Given the description of an element on the screen output the (x, y) to click on. 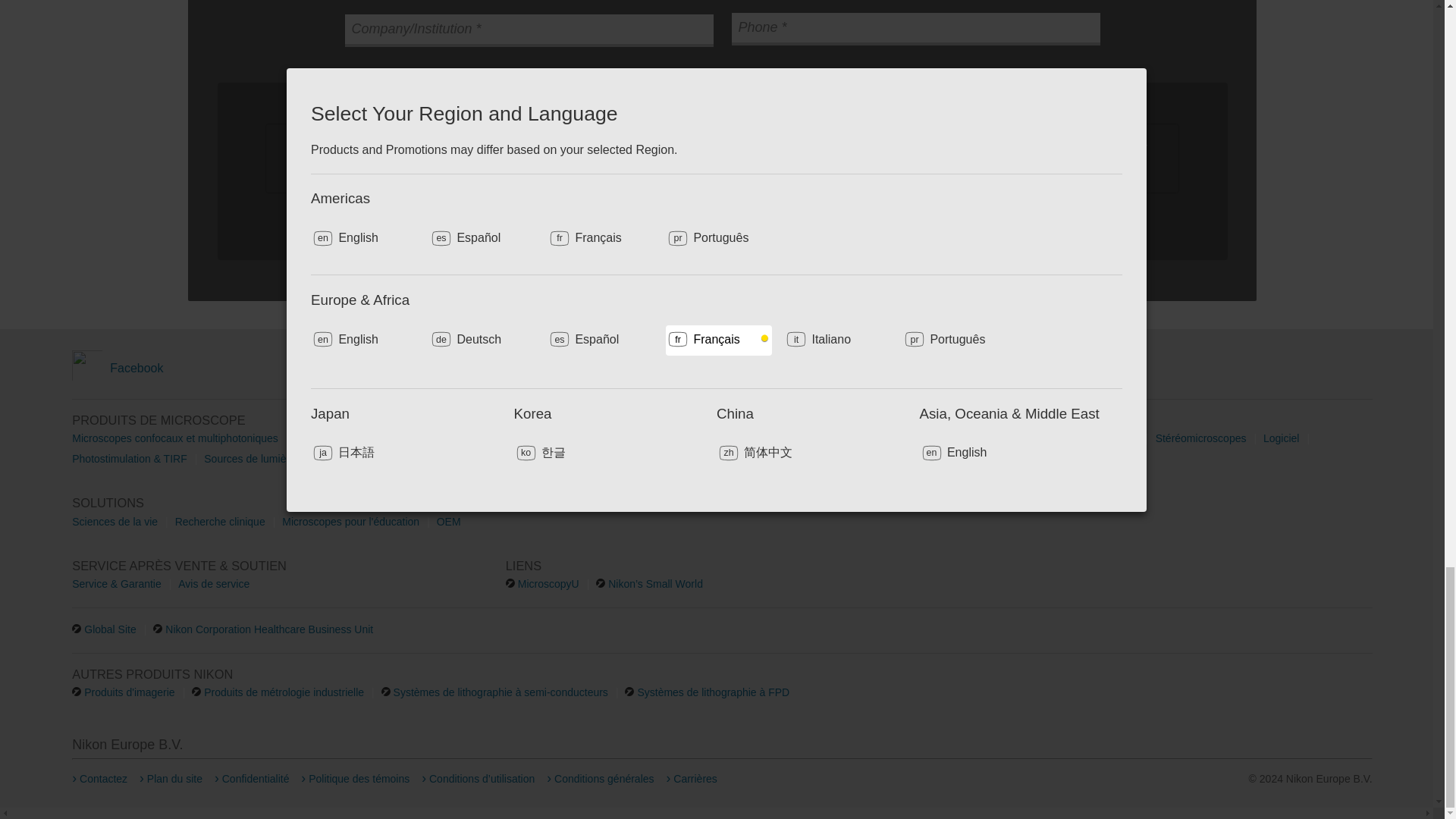
Verify email (528, 4)
submit (722, 219)
true (302, 147)
Phone (914, 34)
